Given the description of an element on the screen output the (x, y) to click on. 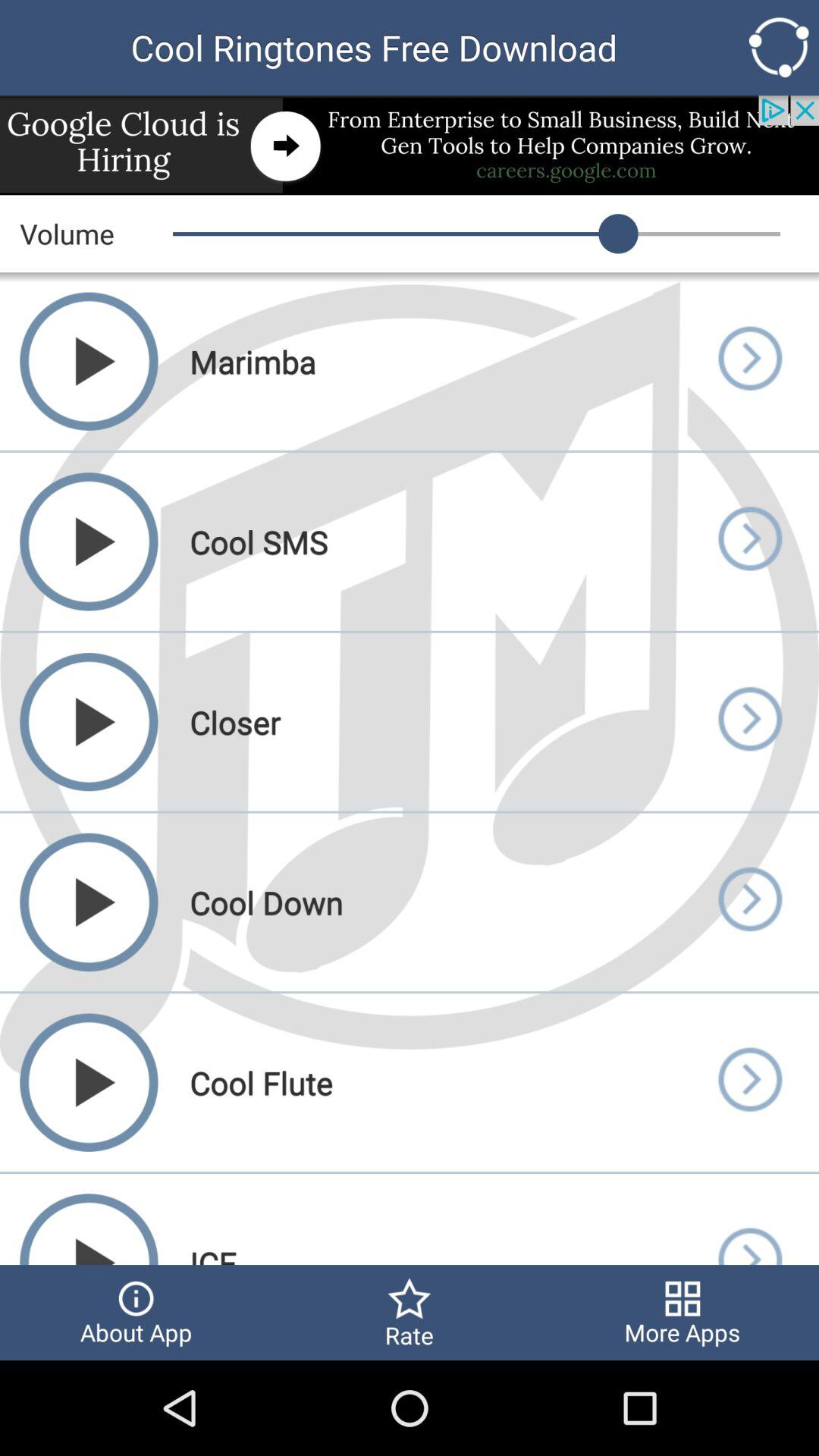
volume (749, 722)
